Given the description of an element on the screen output the (x, y) to click on. 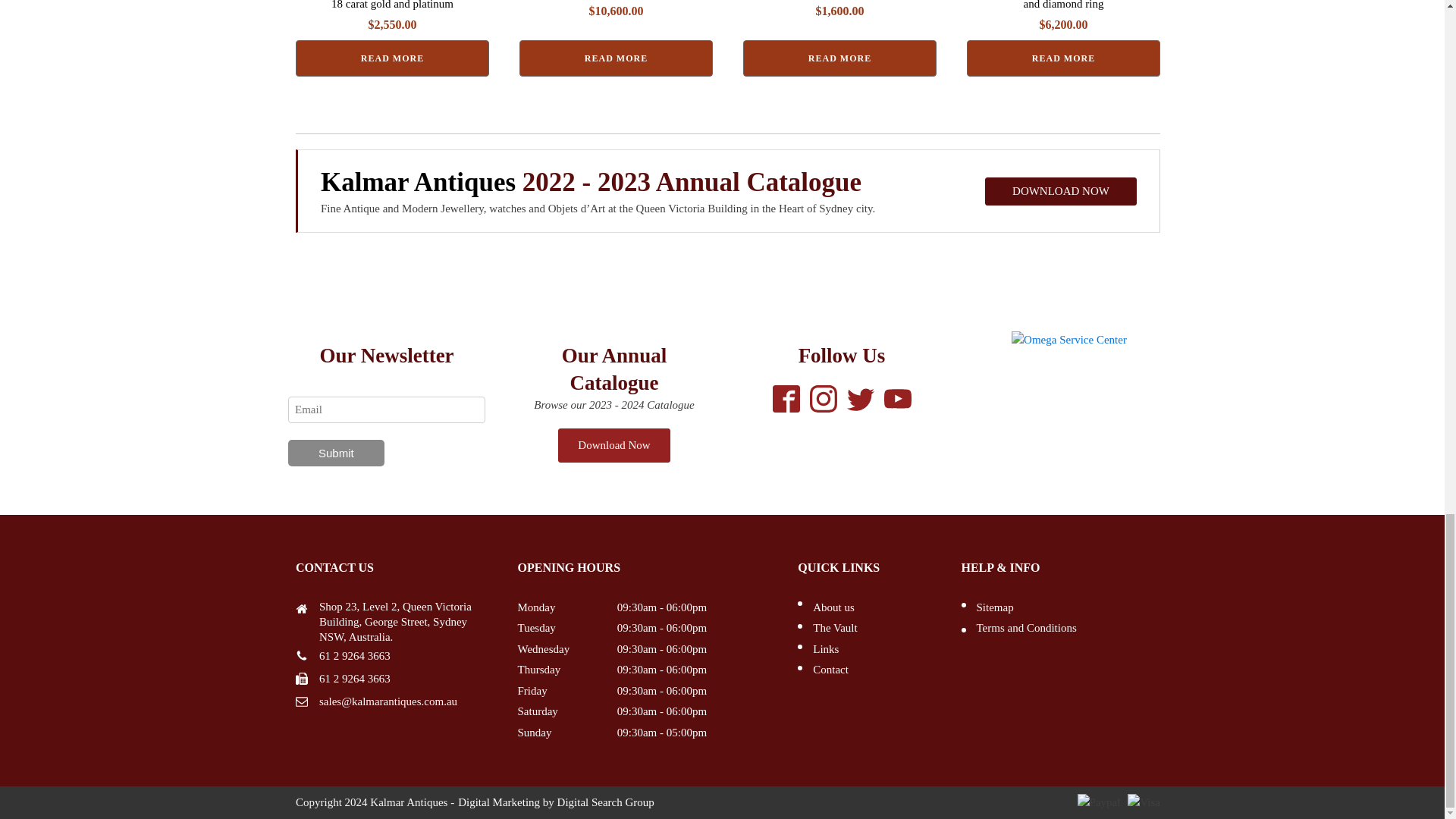
Submit (336, 452)
Sydney Omega Service Centre (1068, 339)
